Given the description of an element on the screen output the (x, y) to click on. 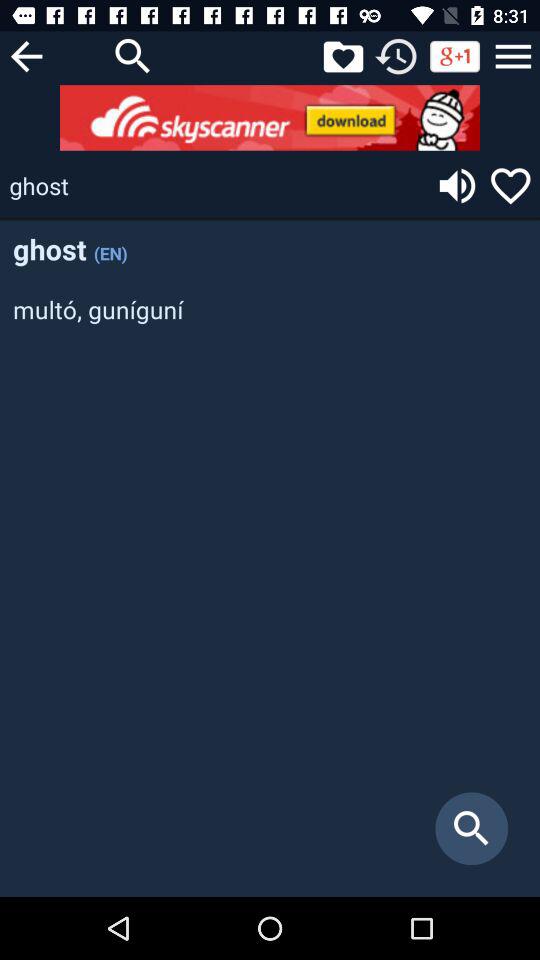
like word (510, 185)
